Given the description of an element on the screen output the (x, y) to click on. 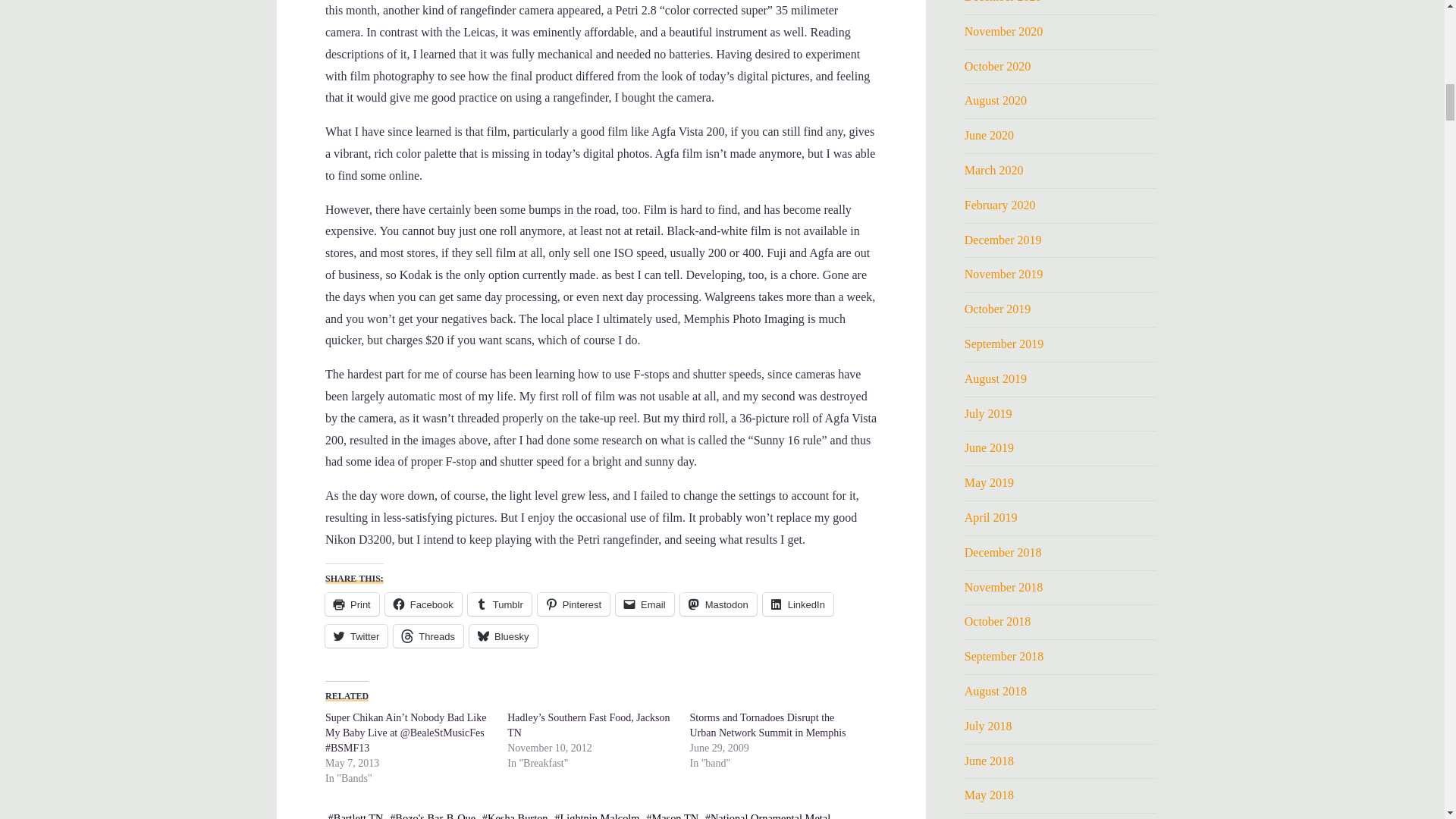
Click to share on LinkedIn (796, 603)
Click to share on Facebook (422, 603)
Click to share on Tumblr (499, 603)
Click to print (351, 603)
Click to share on Pinterest (572, 603)
Click to share on Mastodon (717, 603)
Click to email a link to a friend (644, 603)
